Given the description of an element on the screen output the (x, y) to click on. 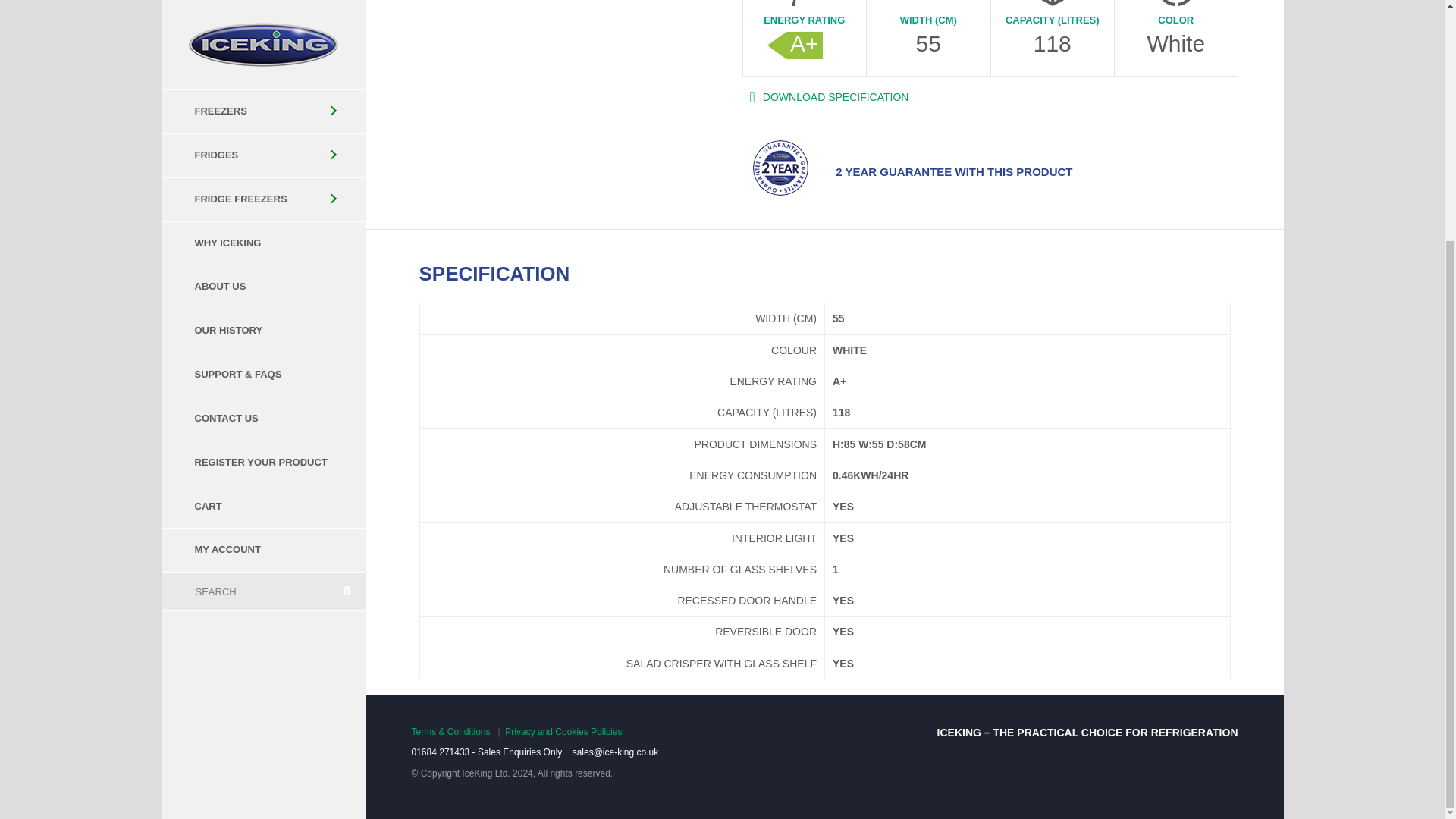
CART (262, 174)
Search (243, 259)
OUR HISTORY (262, 8)
REGISTER YOUR PRODUCT (262, 130)
MY ACCOUNT (262, 217)
2year (779, 168)
CONTACT US (262, 86)
